Given the description of an element on the screen output the (x, y) to click on. 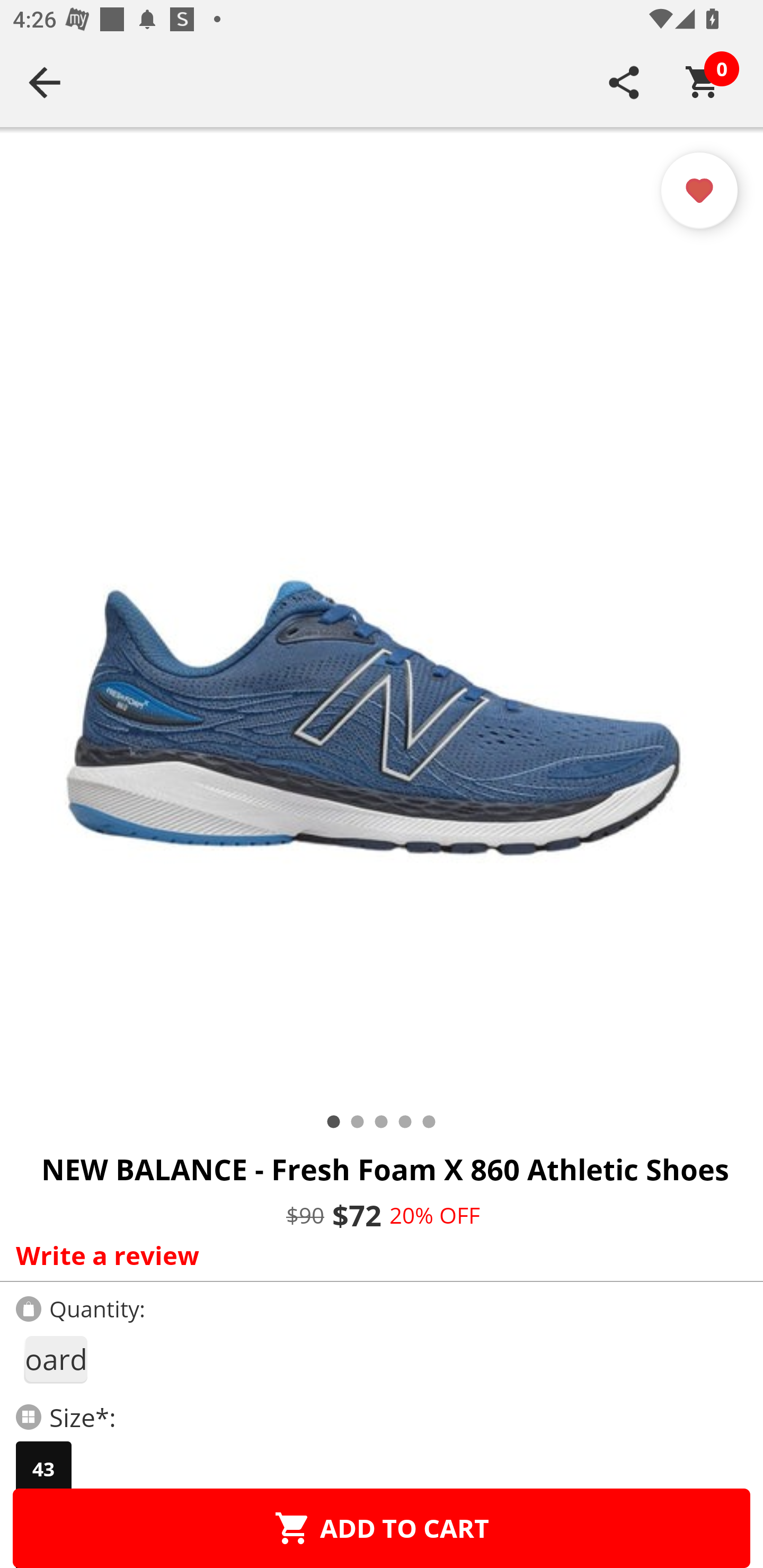
Navigate up (44, 82)
SHARE (623, 82)
Cart (703, 81)
Write a review (377, 1255)
1keyboard (55, 1358)
43 (43, 1468)
ADD TO CART (381, 1528)
